Given the description of an element on the screen output the (x, y) to click on. 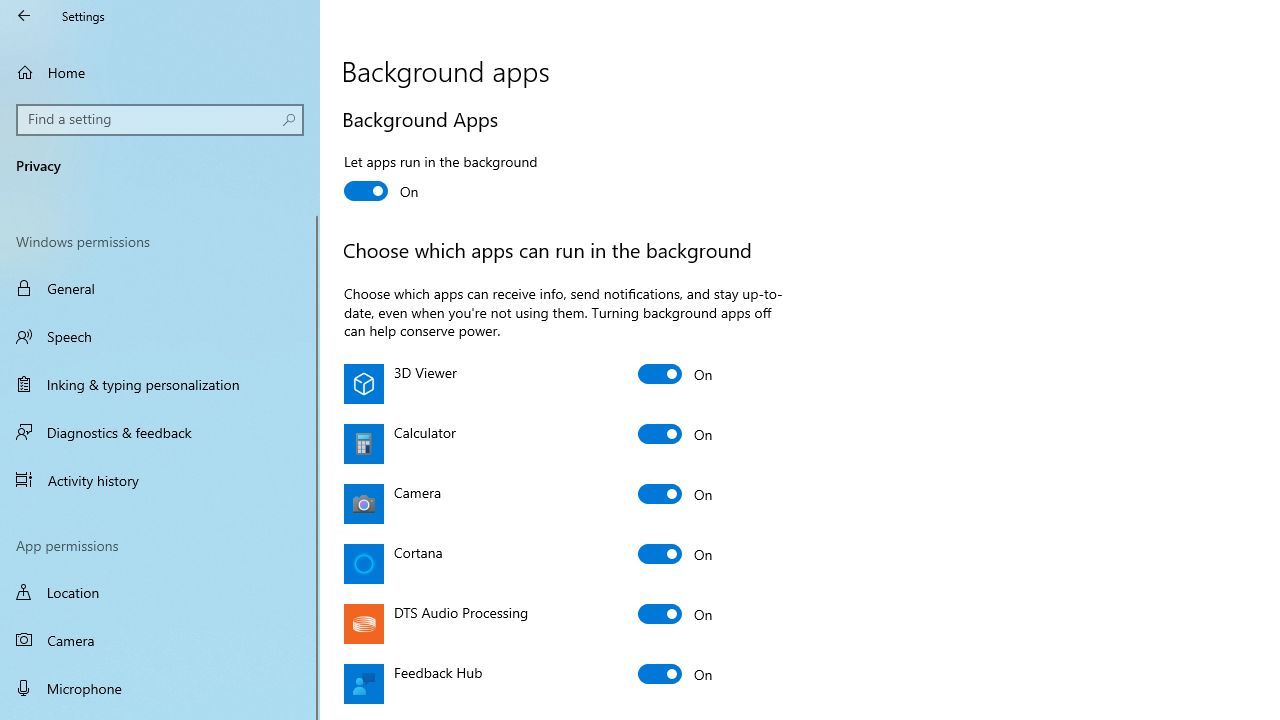
Home (160, 71)
Back (24, 15)
Activity history (160, 479)
